Given the description of an element on the screen output the (x, y) to click on. 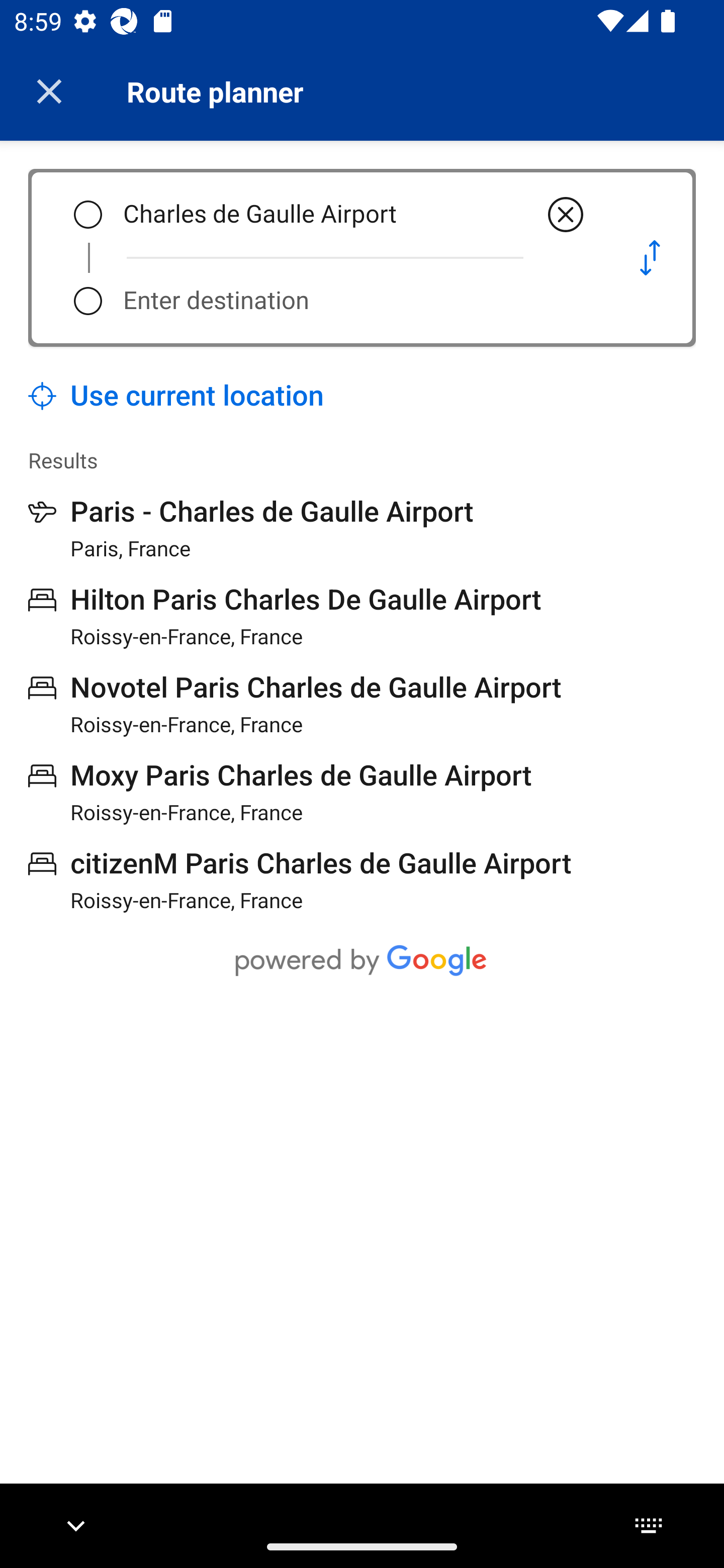
Close (49, 91)
Charles de Gaulle Airport Clear (355, 214)
Clear (565, 214)
Swap pick-up location and destination (650, 257)
Enter destination (355, 300)
Use current location (176, 395)
Paris - Charles de Gaulle Airport Paris, France (251, 528)
